Given the description of an element on the screen output the (x, y) to click on. 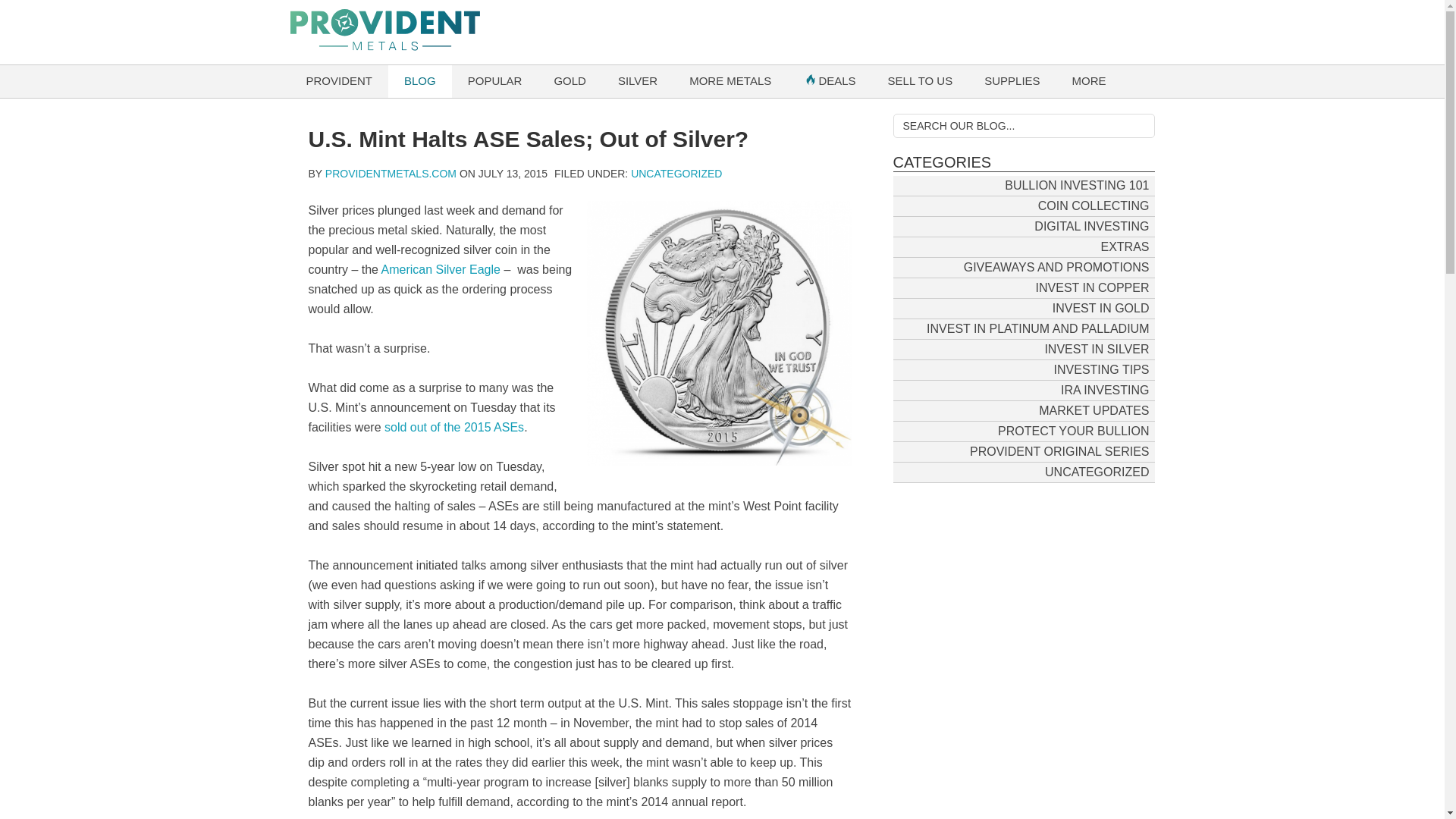
INVEST IN GOLD (1100, 308)
GOLD (569, 81)
COIN COLLECTING (1093, 205)
INVEST IN PLATINUM AND PALLADIUM (1037, 328)
SUPPLIES (1011, 81)
PROVIDENT ORIGINAL SERIES (1058, 451)
sold out of the 2015 ASEs (454, 427)
PROVIDENT METALS (721, 32)
UNCATEGORIZED (676, 173)
PROVIDENT (338, 81)
GIVEAWAYS AND PROMOTIONS (1056, 267)
DEALS (828, 81)
INVEST IN SILVER (1096, 349)
